Given the description of an element on the screen output the (x, y) to click on. 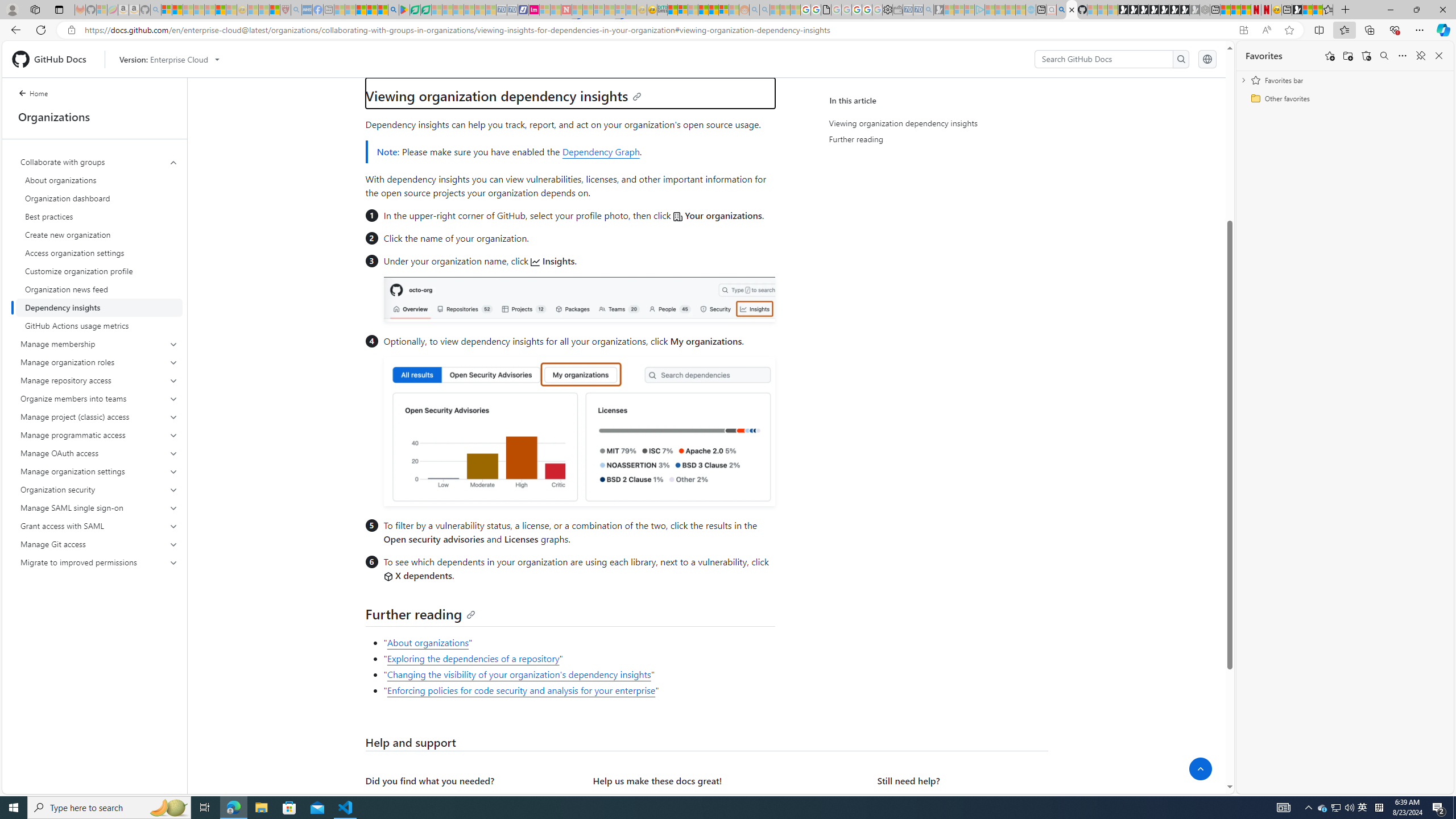
Wildlife - MSN (1307, 9)
Add folder (1347, 55)
Search favorites (1383, 55)
"About organizations" (578, 642)
Manage project (classic) access (99, 416)
Manage repository access (99, 380)
